Given the description of an element on the screen output the (x, y) to click on. 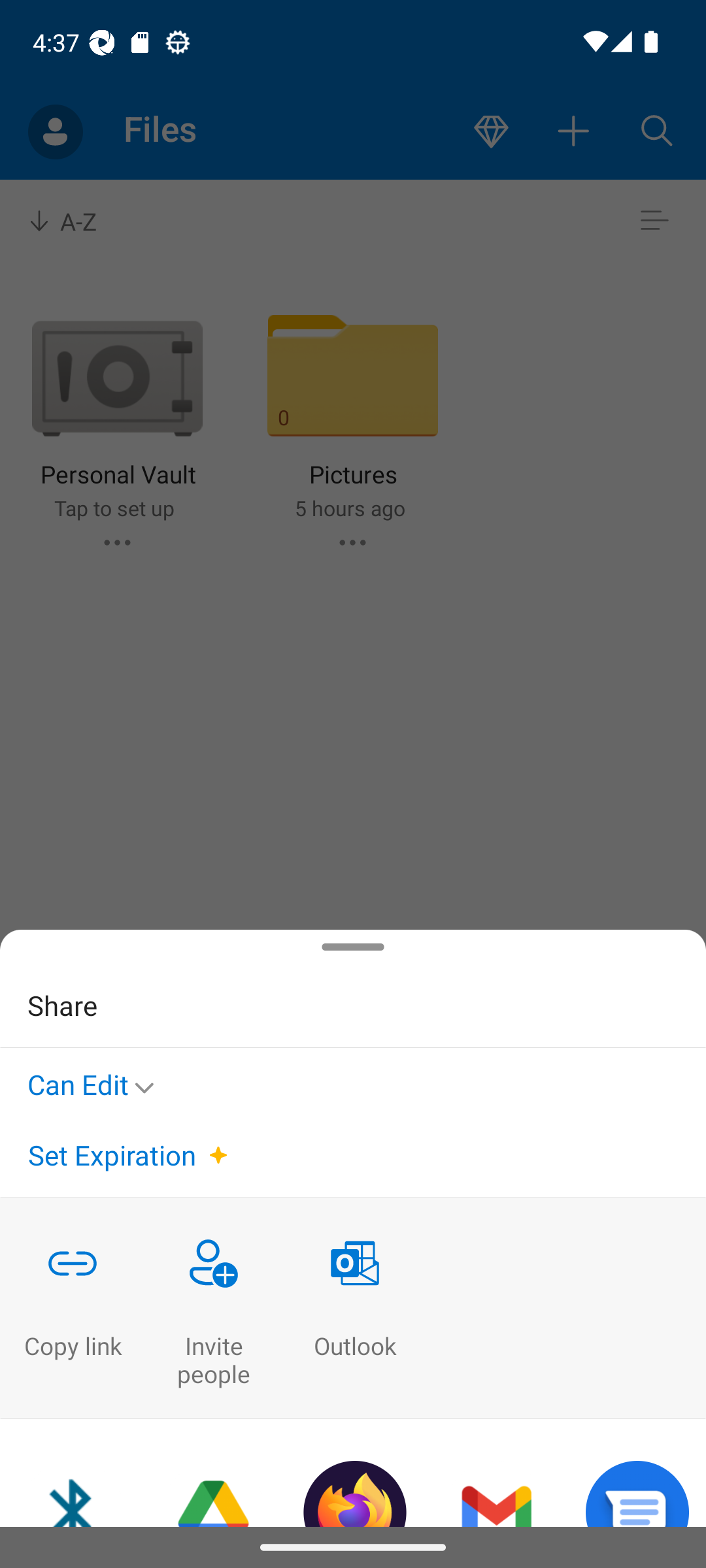
Can Edit (95, 1080)
Set Expiration (111, 1154)
Copy link (72, 1307)
Invite people (213, 1307)
Outlook (354, 1307)
